Given the description of an element on the screen output the (x, y) to click on. 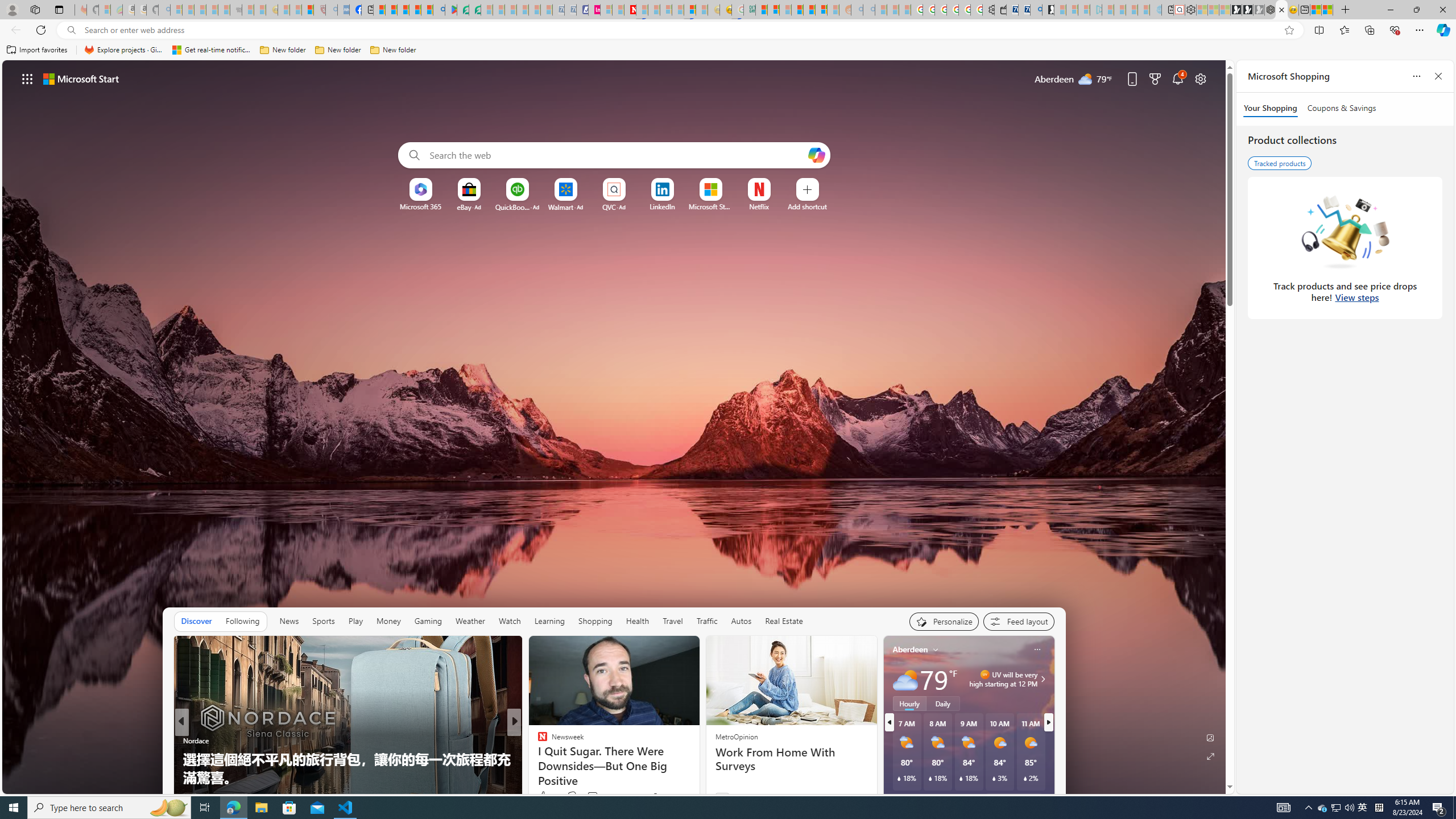
Wallet (1000, 9)
Body Network (537, 758)
View comments 84 Comment (592, 797)
Add a site (807, 206)
Pets - MSN (415, 9)
I Lost 30 Pounds While Eating These Popular Foods (697, 777)
Travel (672, 621)
Expert Portfolios (797, 9)
